Given the description of an element on the screen output the (x, y) to click on. 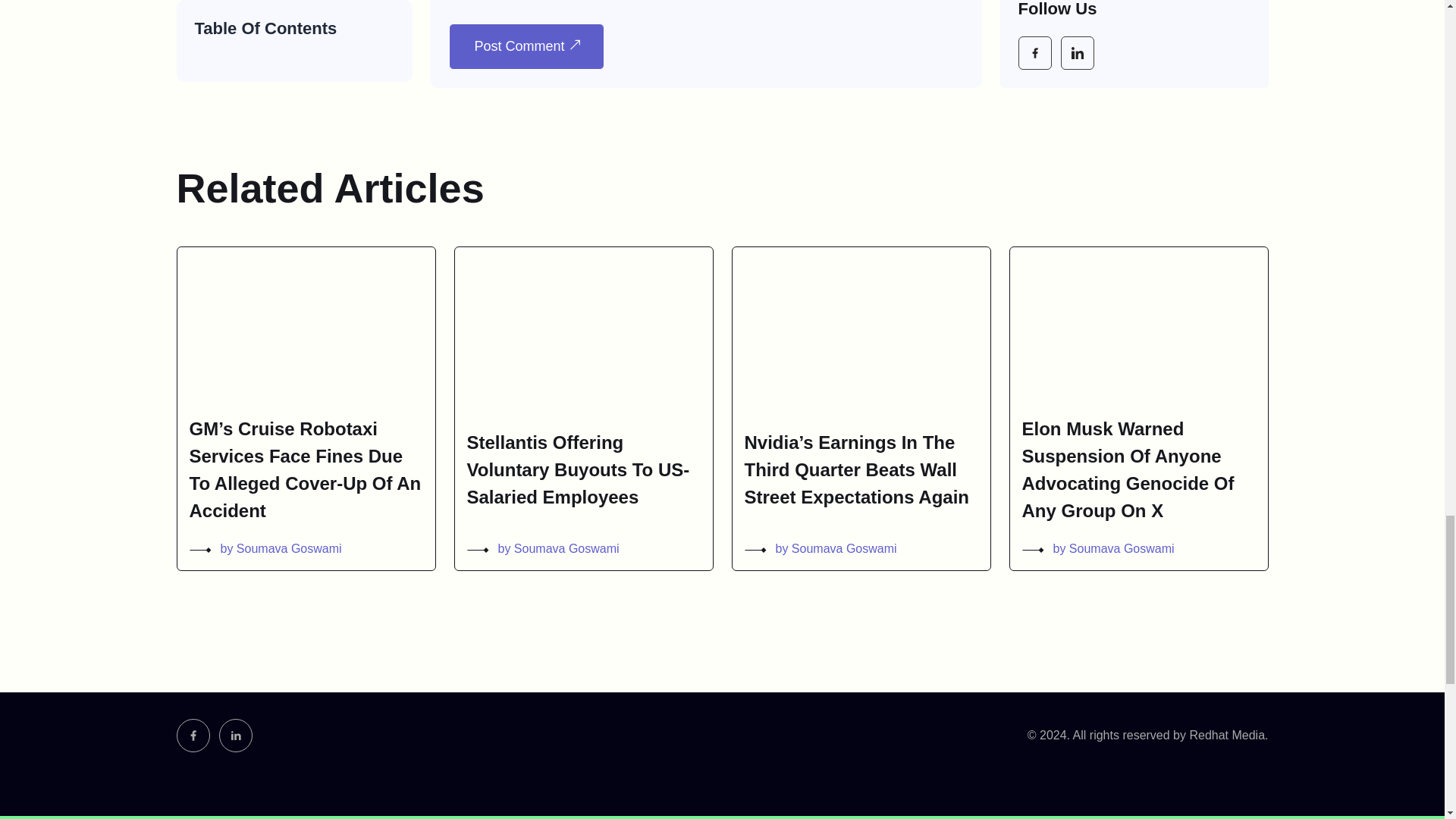
Post Comment (526, 46)
